Given the description of an element on the screen output the (x, y) to click on. 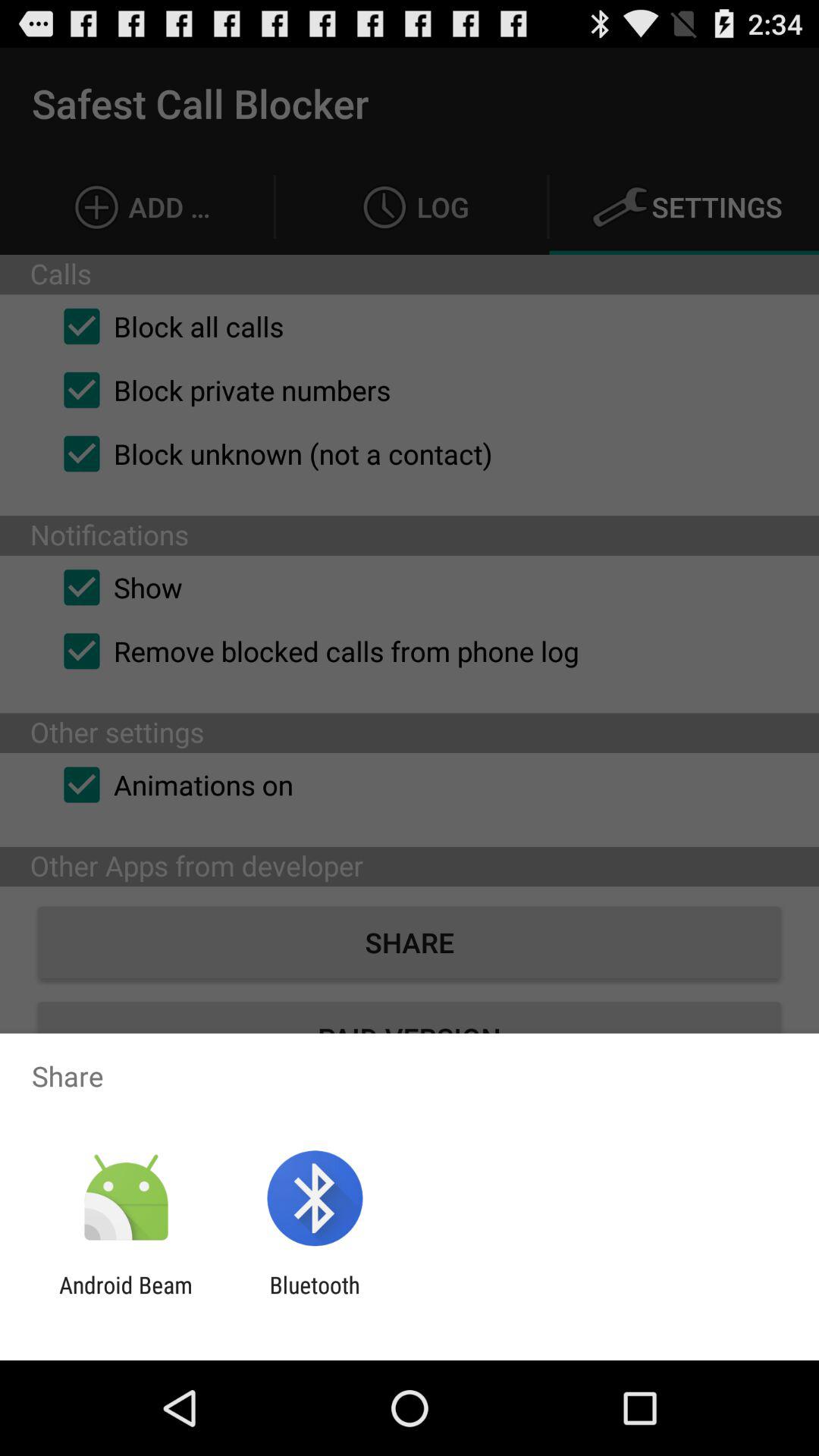
launch app next to bluetooth (125, 1298)
